Given the description of an element on the screen output the (x, y) to click on. 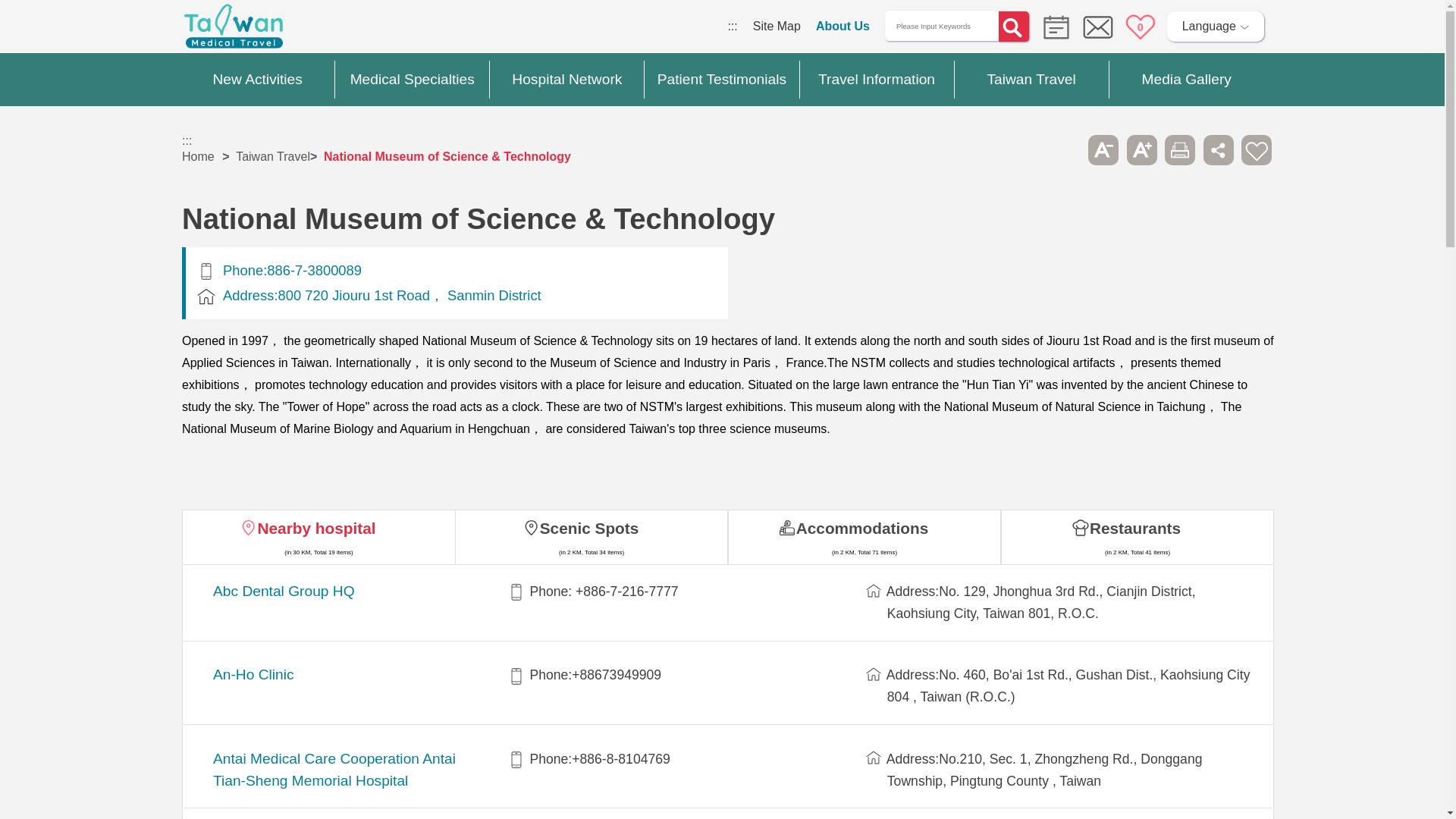
0 (1137, 26)
Language (1215, 25)
Medical Specialties (411, 79)
Search (1013, 26)
New Activities (257, 79)
Site Map (776, 25)
Medical Travel World Wide Web (233, 30)
Online Service (1098, 27)
About Us (842, 25)
Online Service (1098, 27)
Language (1215, 25)
My First-aid Box (1137, 26)
Search (1013, 26)
Hospital Network (567, 79)
Find Medical Services (1052, 26)
